Given the description of an element on the screen output the (x, y) to click on. 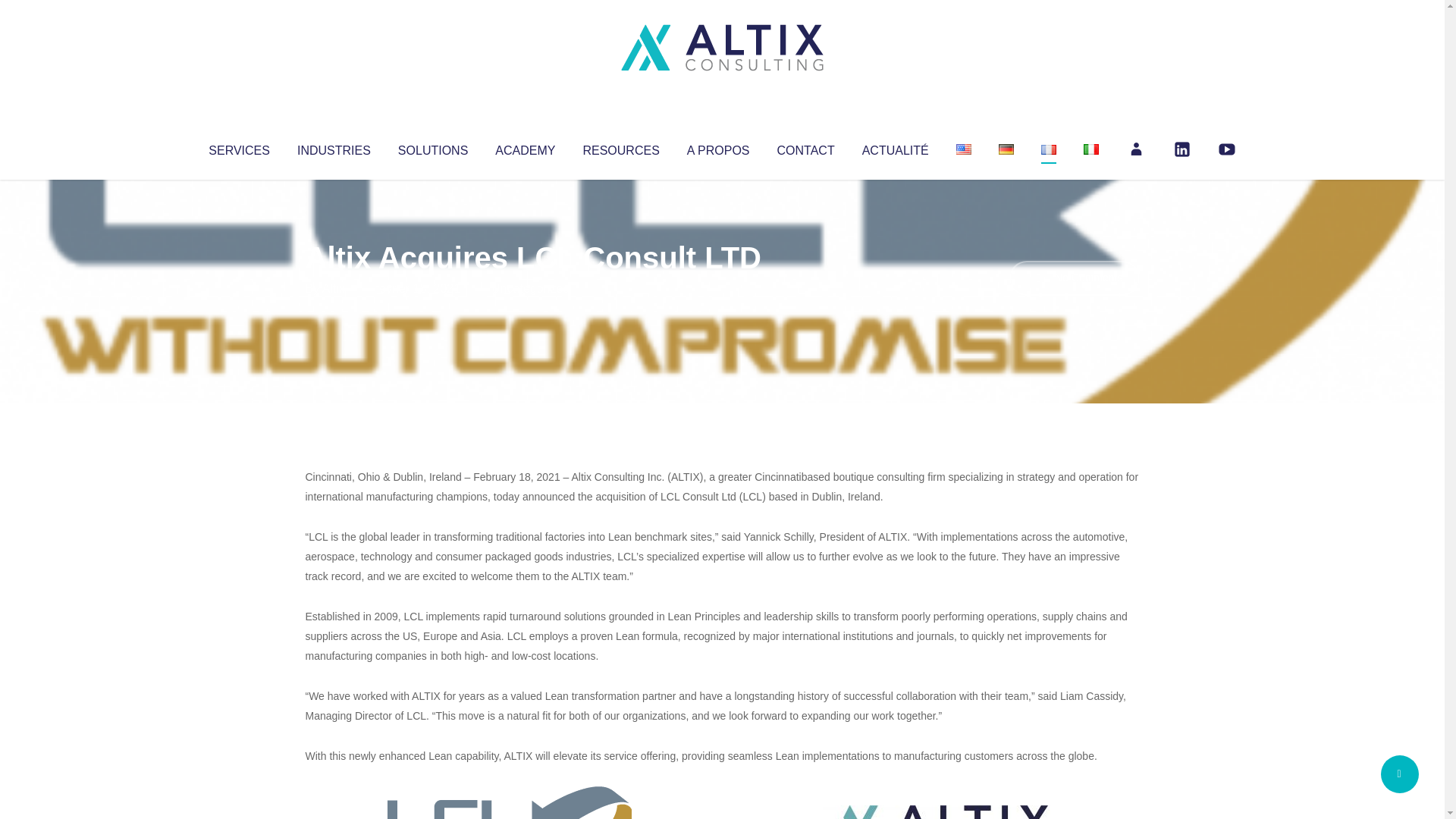
INDUSTRIES (334, 146)
Uncategorized (530, 287)
ACADEMY (524, 146)
Altix (333, 287)
No Comments (1073, 278)
Articles par Altix (333, 287)
RESOURCES (620, 146)
SERVICES (238, 146)
A PROPOS (718, 146)
SOLUTIONS (432, 146)
